Given the description of an element on the screen output the (x, y) to click on. 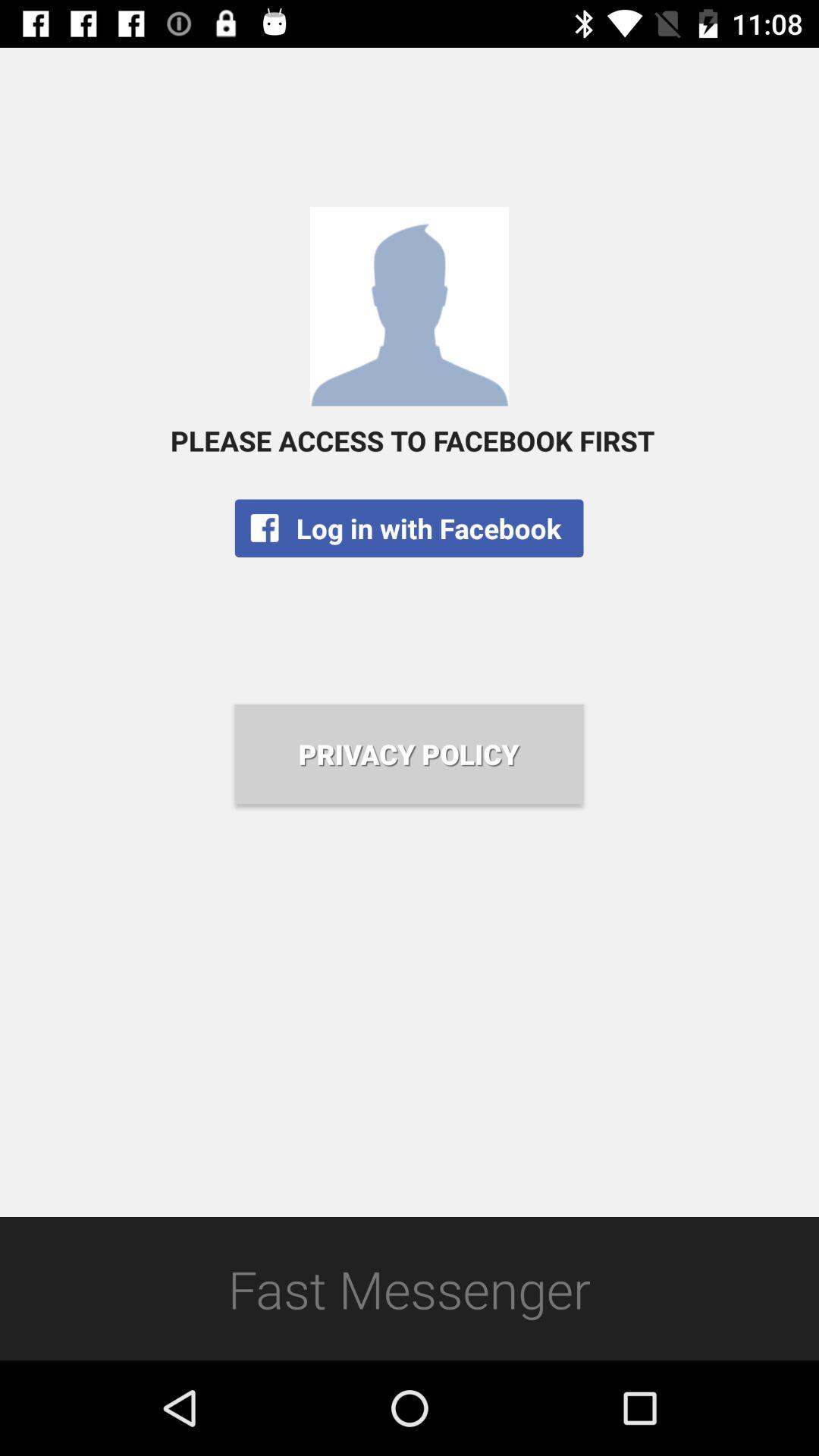
turn on button below privacy policy button (409, 1288)
